Given the description of an element on the screen output the (x, y) to click on. 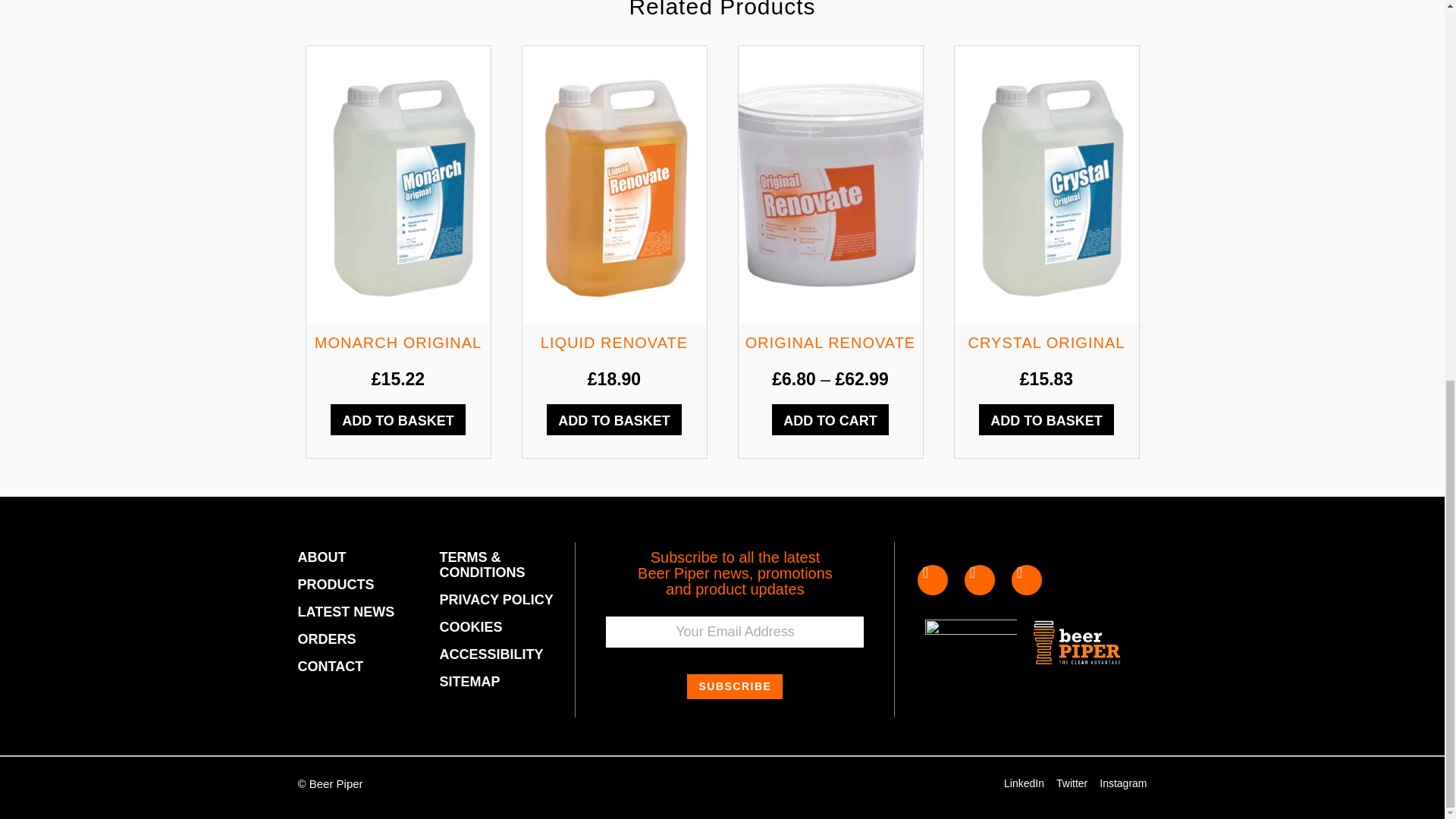
ADD TO CART (829, 419)
ABOUT (360, 557)
ADD TO BASKET (397, 419)
ADD TO BASKET (1045, 419)
PRODUCTS (360, 584)
ADD TO BASKET (614, 419)
